Given the description of an element on the screen output the (x, y) to click on. 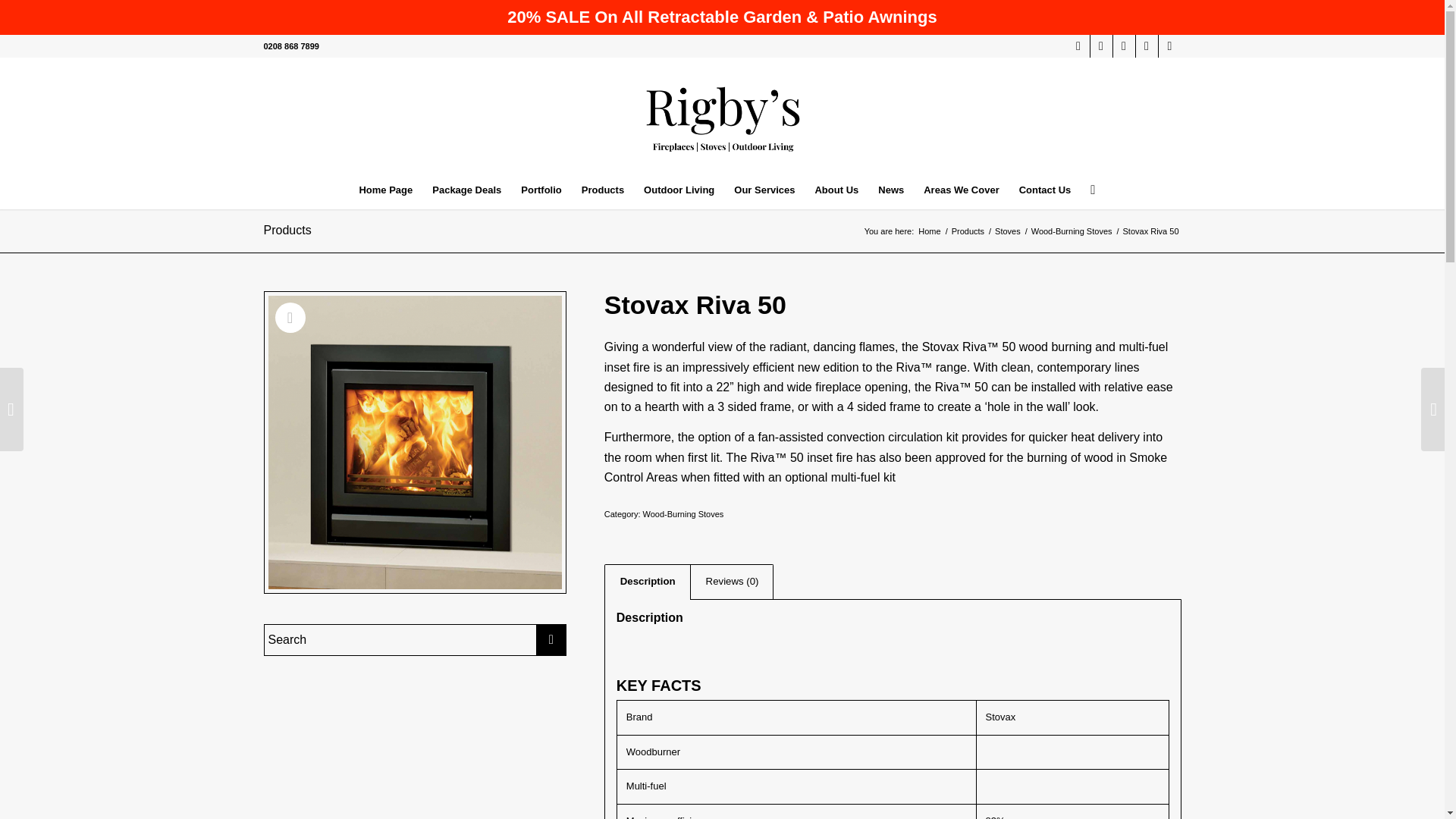
Facebook (1101, 46)
Products (602, 190)
Twitter (1078, 46)
LinkedIn (1146, 46)
Pinterest (1169, 46)
Home Page (385, 190)
Permanent Link: Products (287, 229)
Description (647, 581)
Instagram (1124, 46)
Portfolio (540, 190)
